Given the description of an element on the screen output the (x, y) to click on. 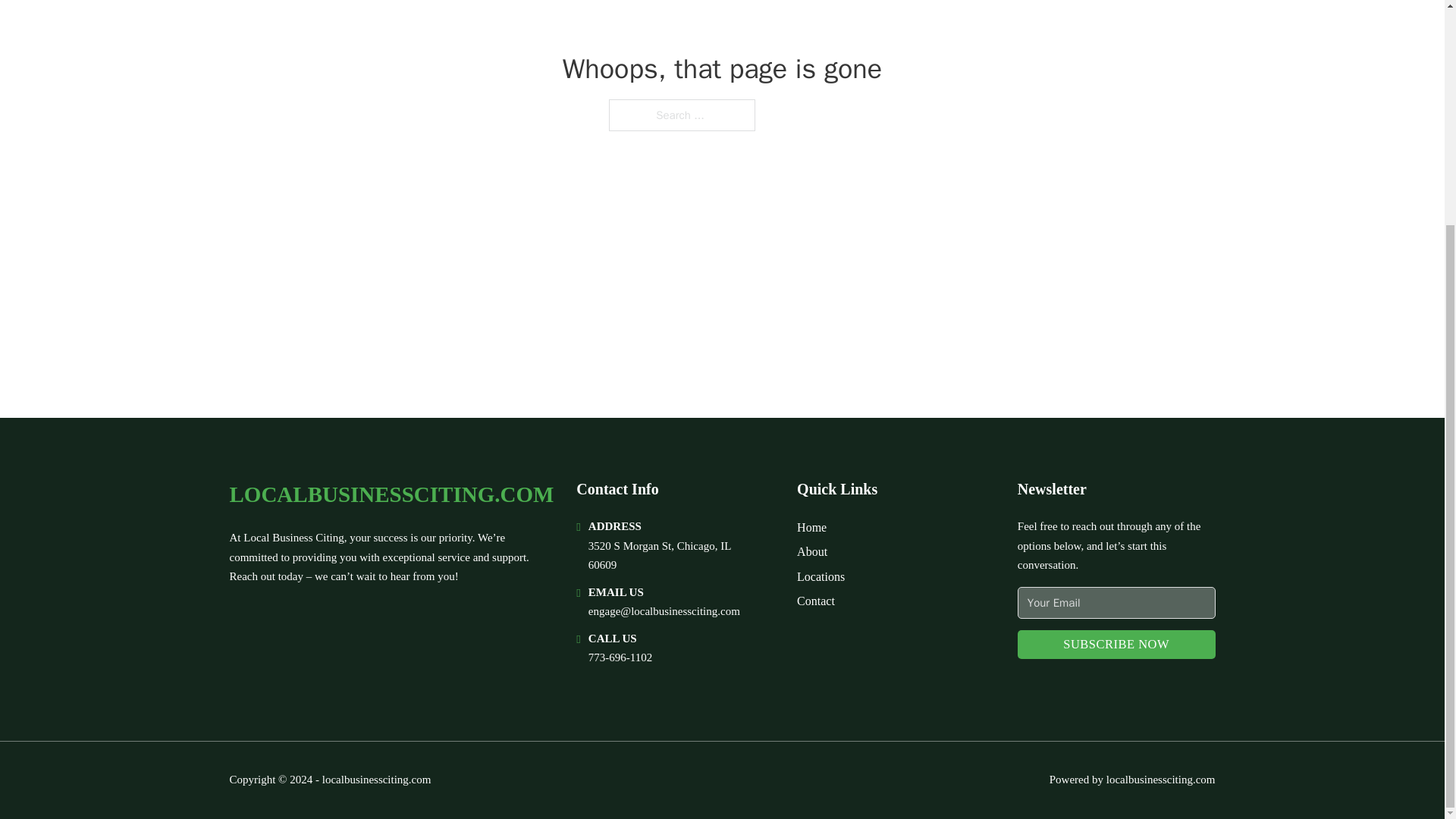
773-696-1102 (620, 657)
Home (811, 526)
LOCALBUSINESSCITING.COM (390, 494)
About (811, 551)
Locations (820, 576)
Contact (815, 600)
SUBSCRIBE NOW (1116, 644)
